Given the description of an element on the screen output the (x, y) to click on. 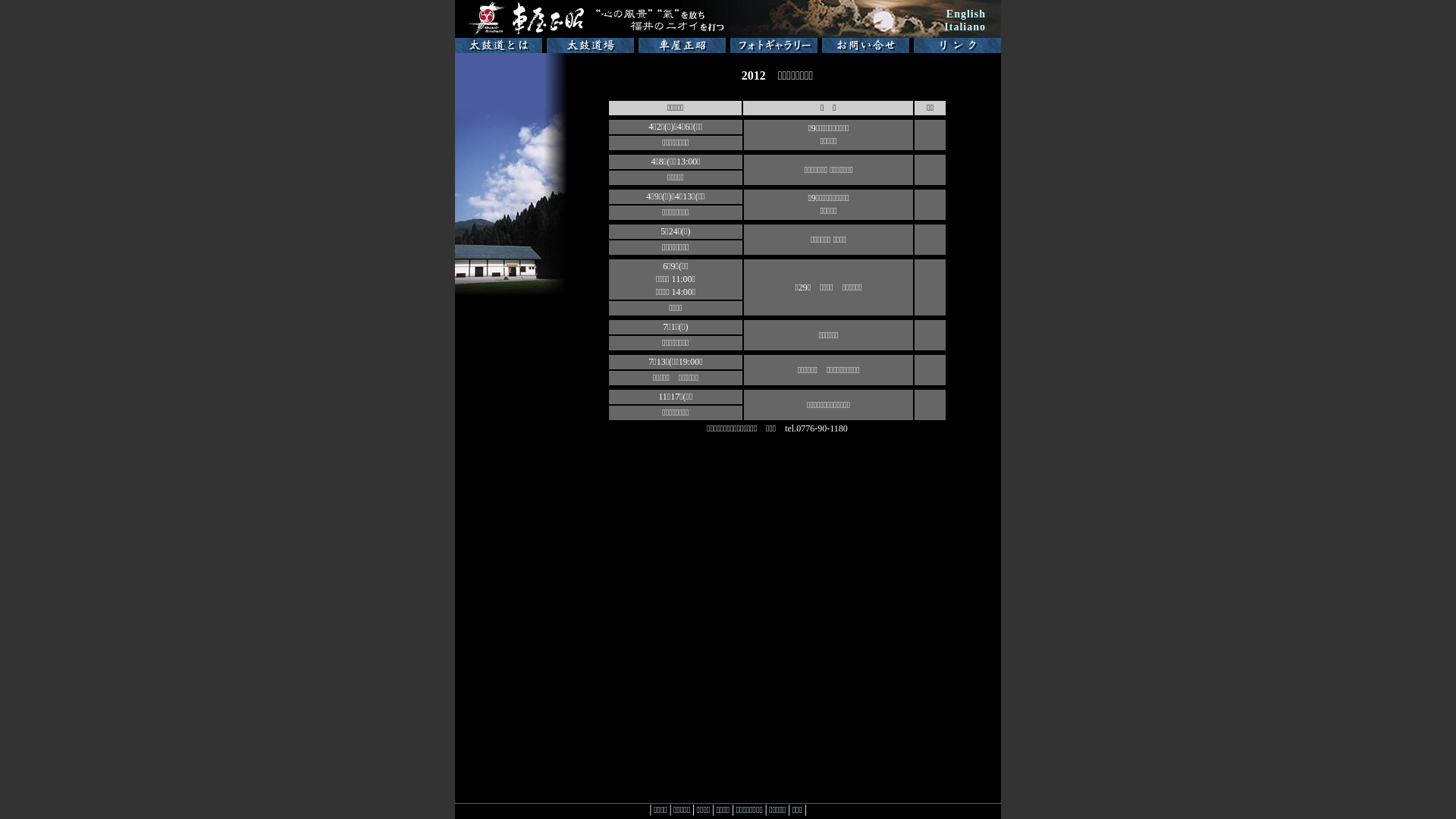
English Element type: text (965, 13)
Italiano Element type: text (964, 26)
